Given the description of an element on the screen output the (x, y) to click on. 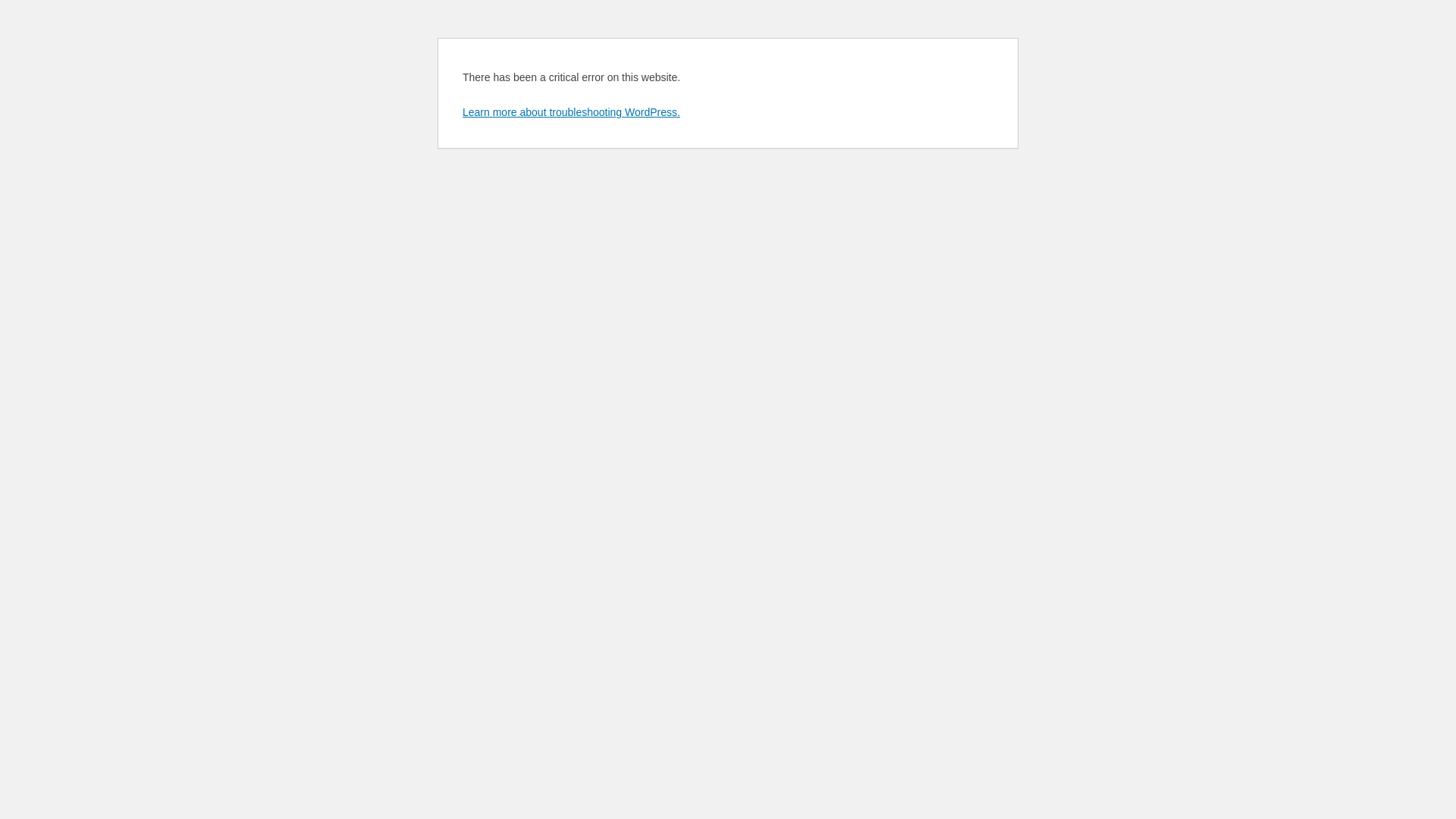
Learn more about troubleshooting WordPress. Element type: text (571, 112)
